Given the description of an element on the screen output the (x, y) to click on. 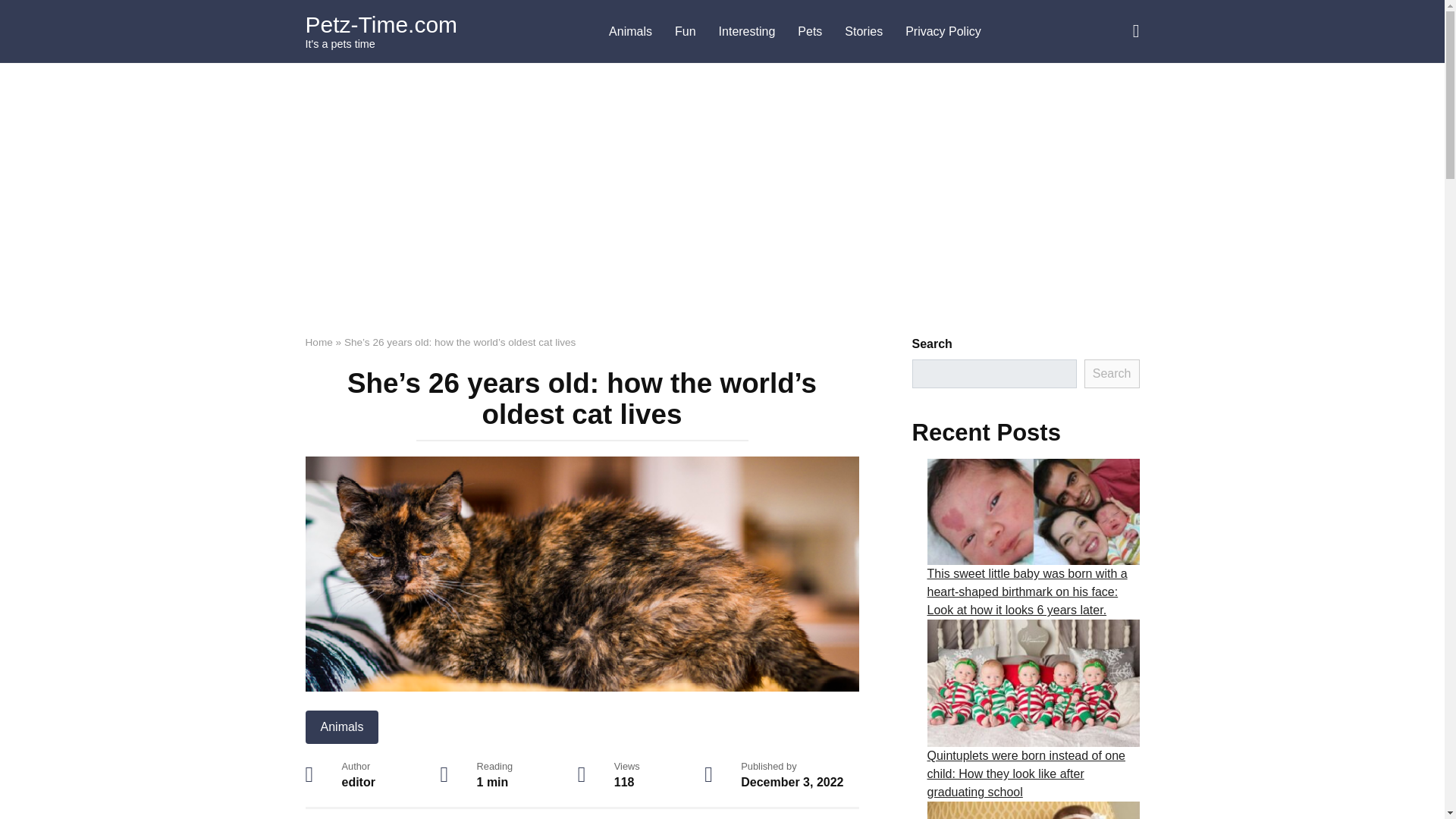
Animals (629, 31)
Animals (341, 726)
Search (1112, 373)
Privacy Policy (942, 31)
Fun (685, 31)
Home (317, 342)
Pets (809, 31)
Petz-Time.com (380, 24)
Stories (862, 31)
Interesting (747, 31)
